Given the description of an element on the screen output the (x, y) to click on. 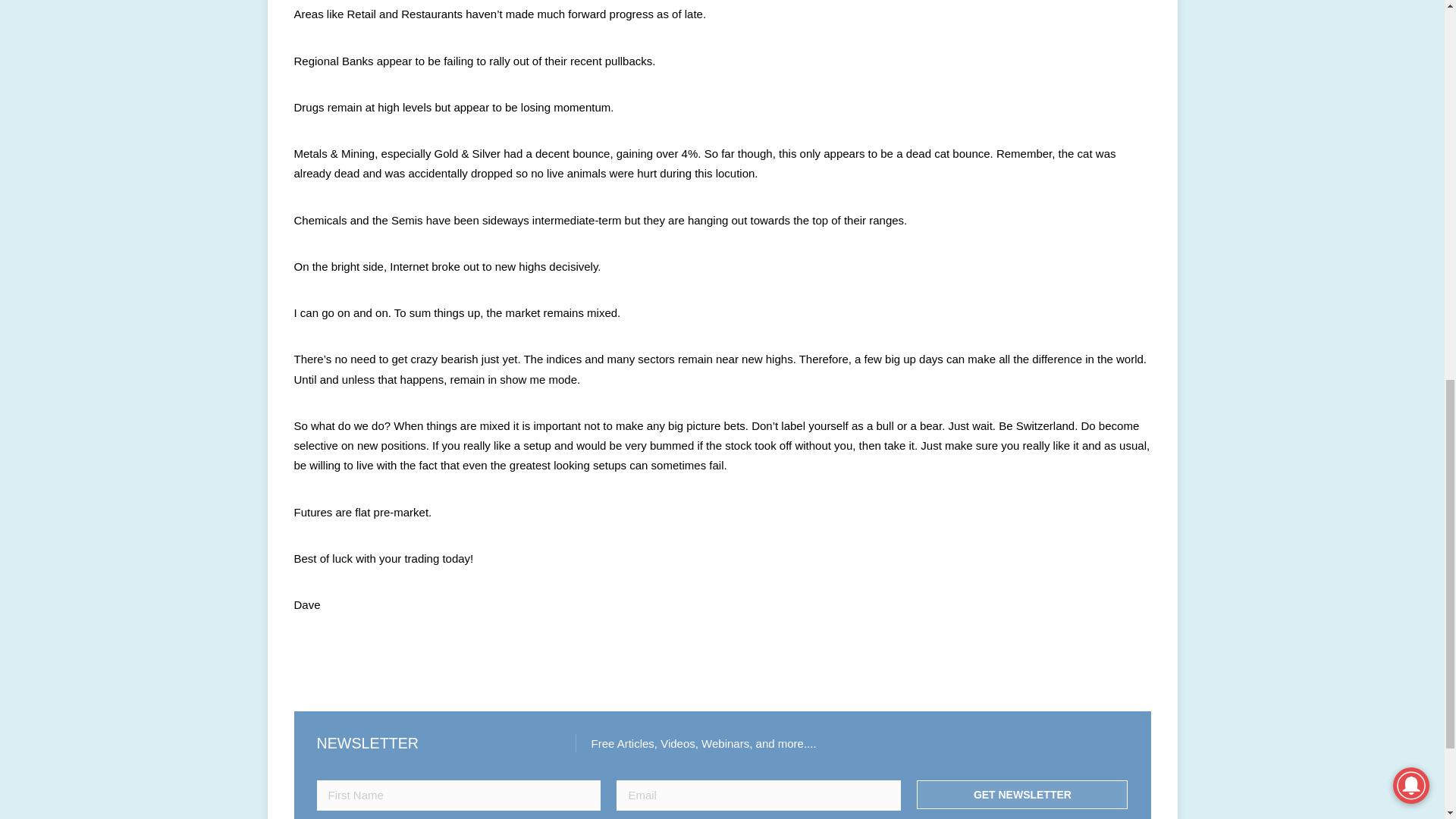
Get Newsletter (1021, 794)
Get Newsletter (1021, 794)
